Given the description of an element on the screen output the (x, y) to click on. 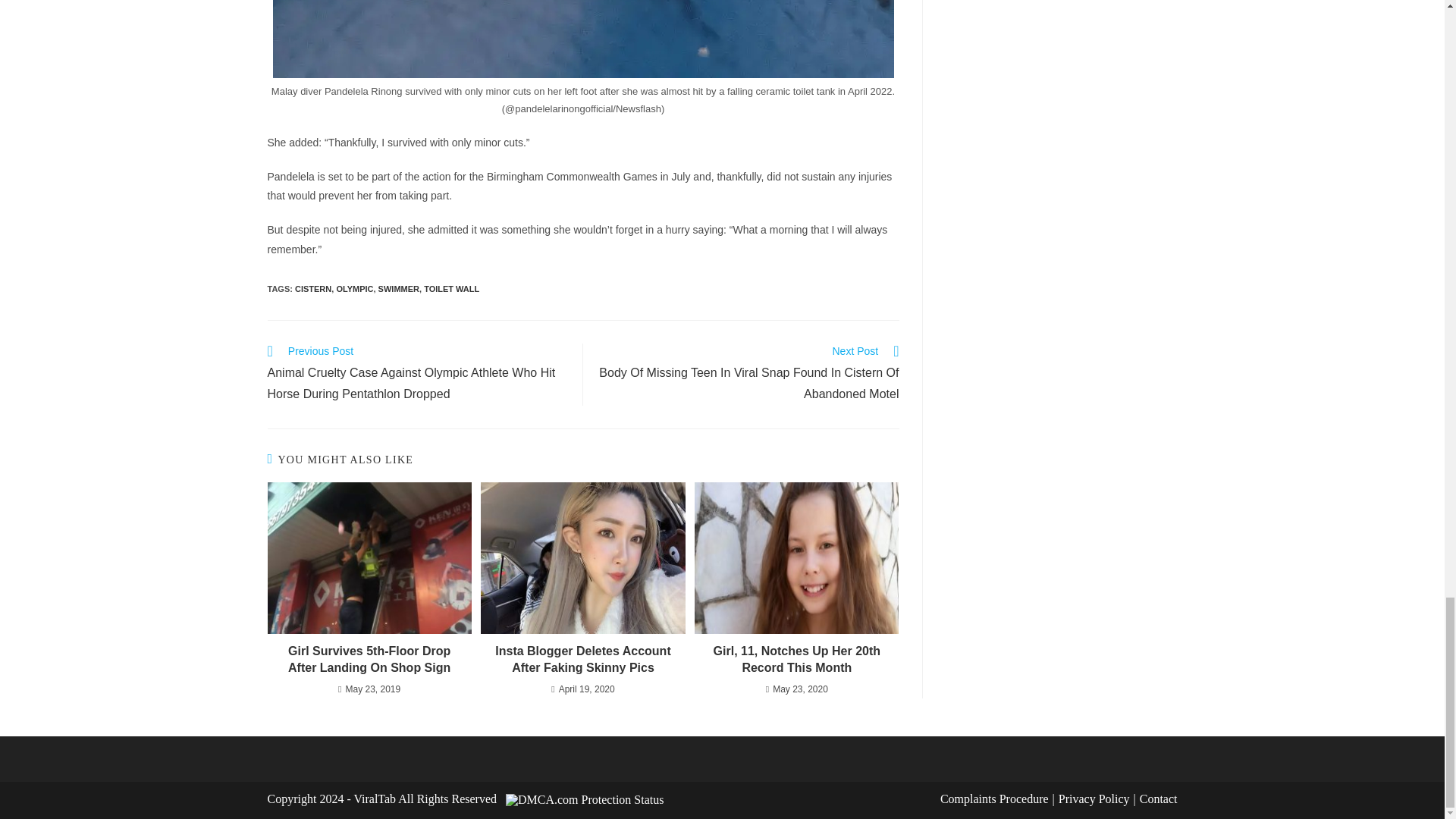
DMCA.com Protection Status (584, 798)
